Given the description of an element on the screen output the (x, y) to click on. 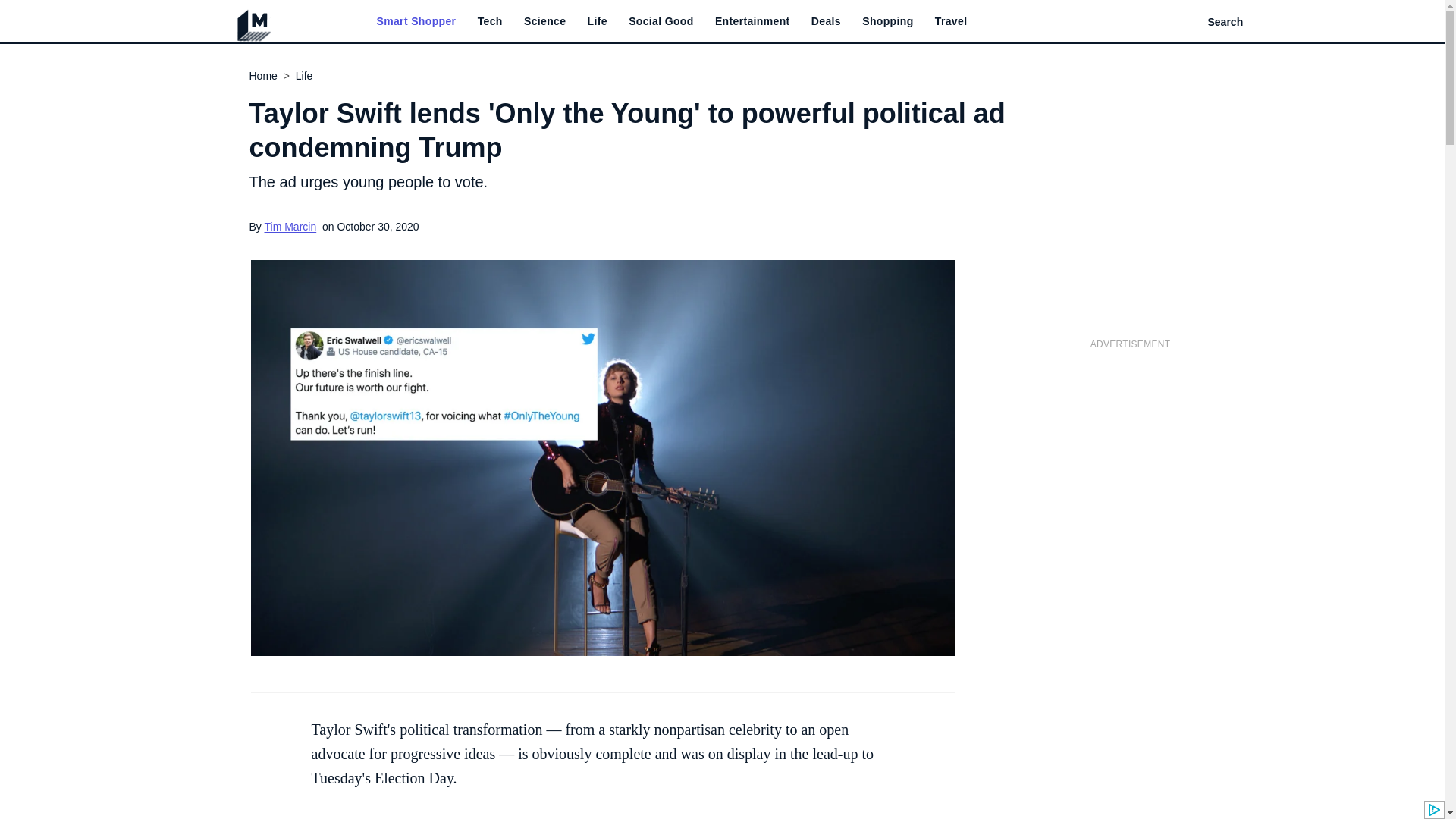
Deals (825, 21)
Tech (489, 21)
Entertainment (752, 21)
Smart Shopper (415, 21)
Travel (951, 21)
Shopping (886, 21)
Social Good (661, 21)
Life (597, 21)
Science (545, 21)
